Given the description of an element on the screen output the (x, y) to click on. 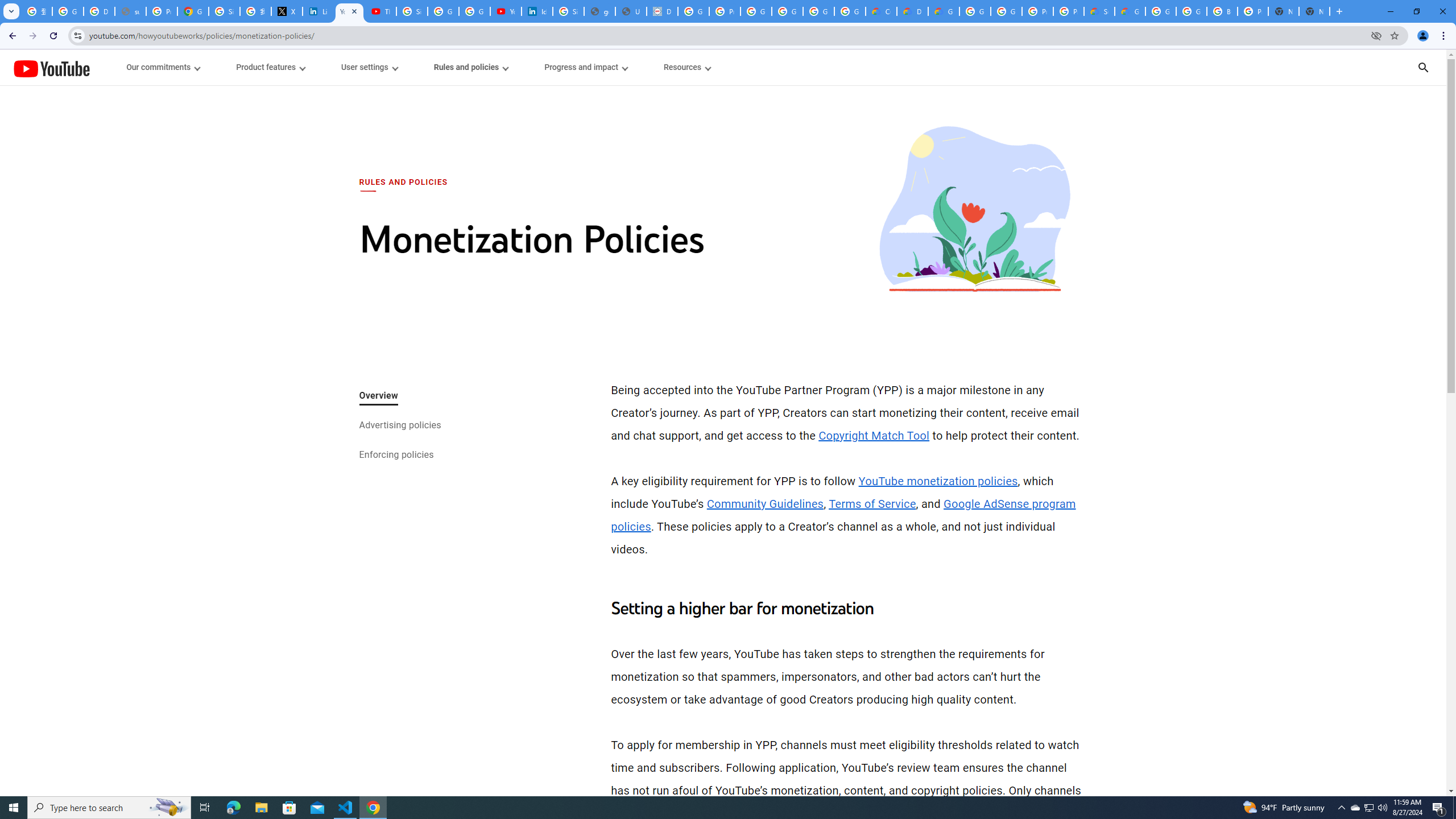
Community Guidelines (765, 504)
Rules and policies menupopup (470, 67)
Support Hub | Google Cloud (1098, 11)
How YouTube Works (51, 66)
YouTube monetization policies (937, 481)
